Given the description of an element on the screen output the (x, y) to click on. 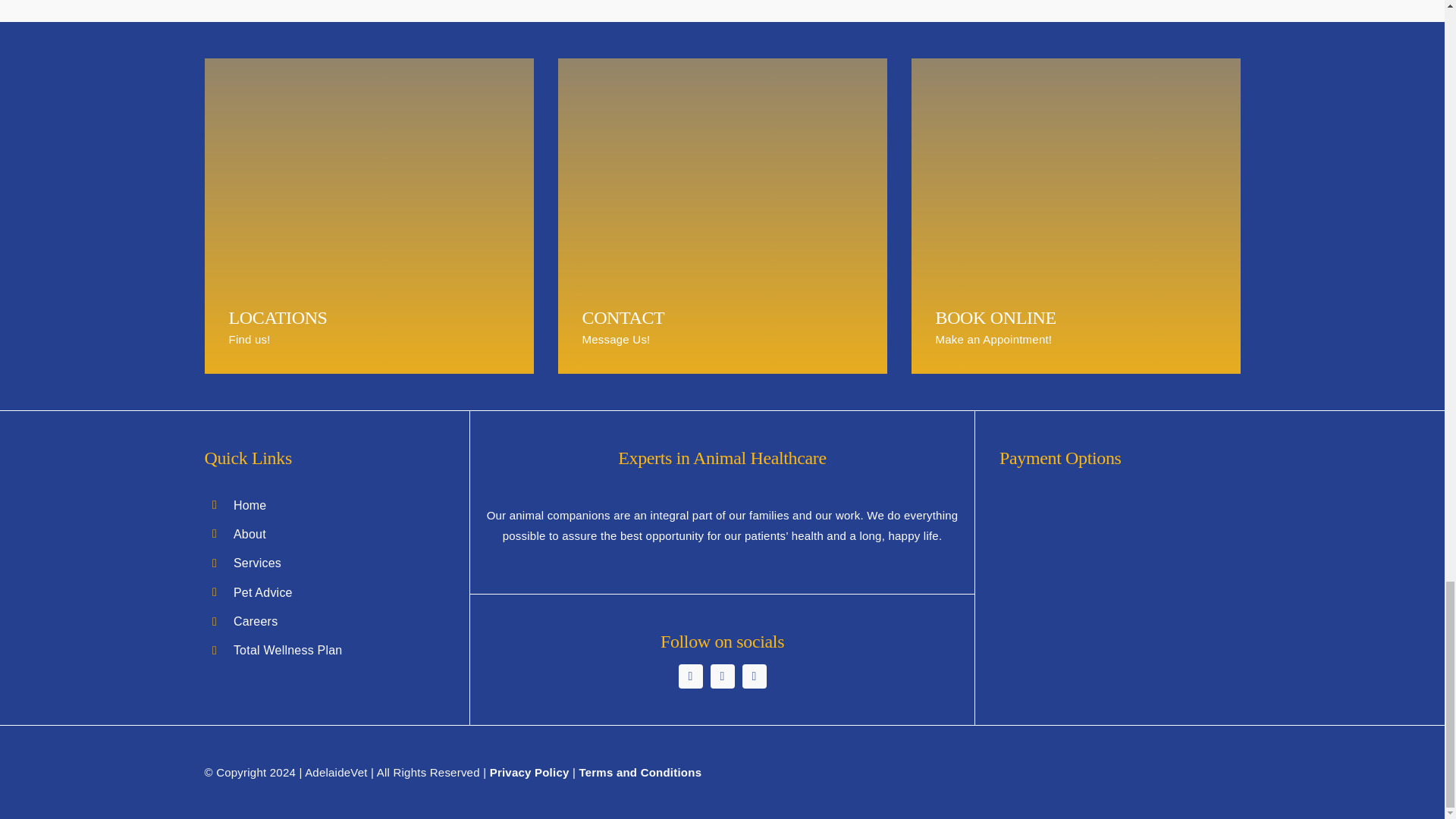
Instagram (721, 676)
Facebook (689, 676)
YouTube (753, 676)
